Given the description of an element on the screen output the (x, y) to click on. 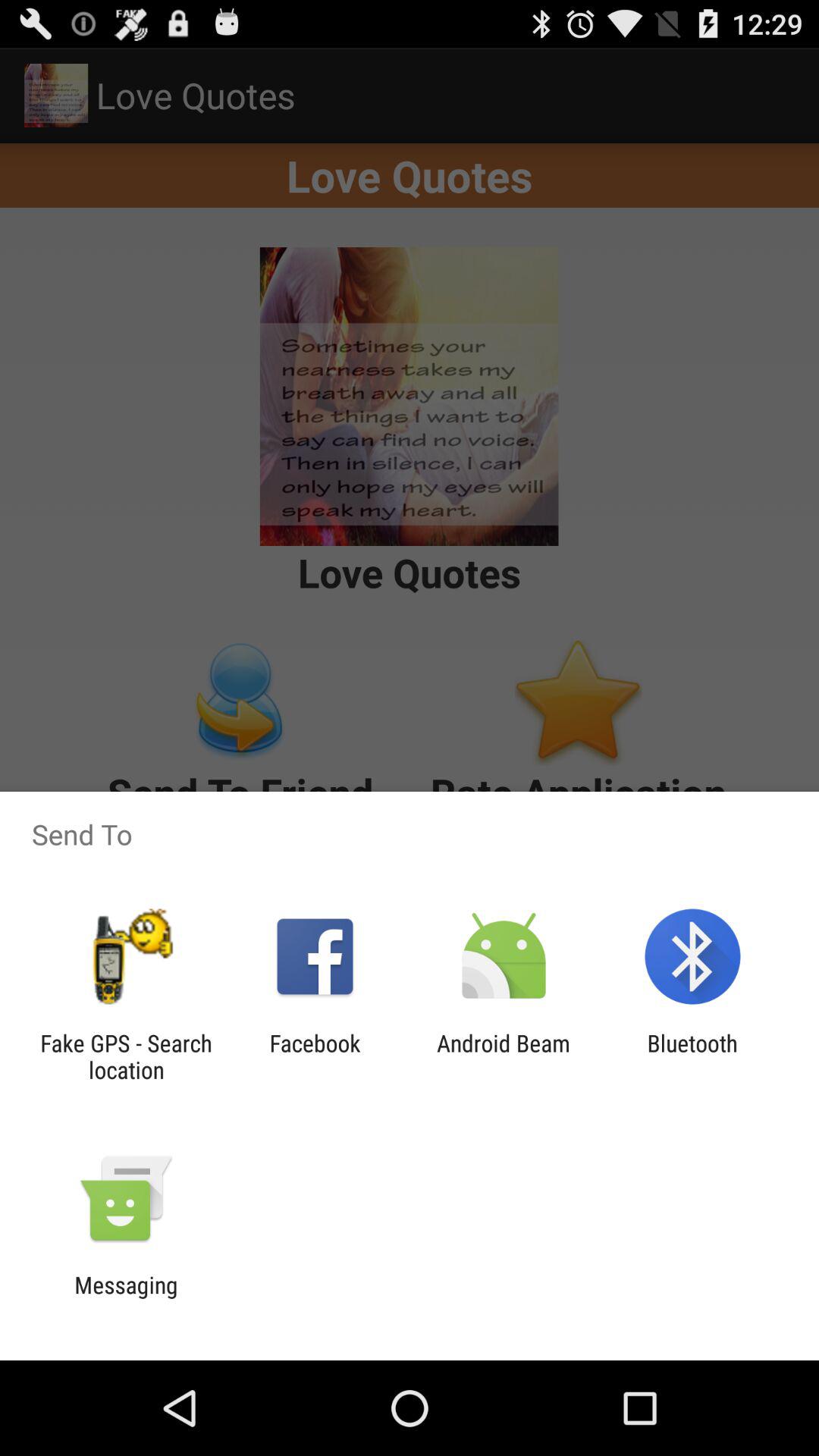
press the app to the left of android beam app (314, 1056)
